Given the description of an element on the screen output the (x, y) to click on. 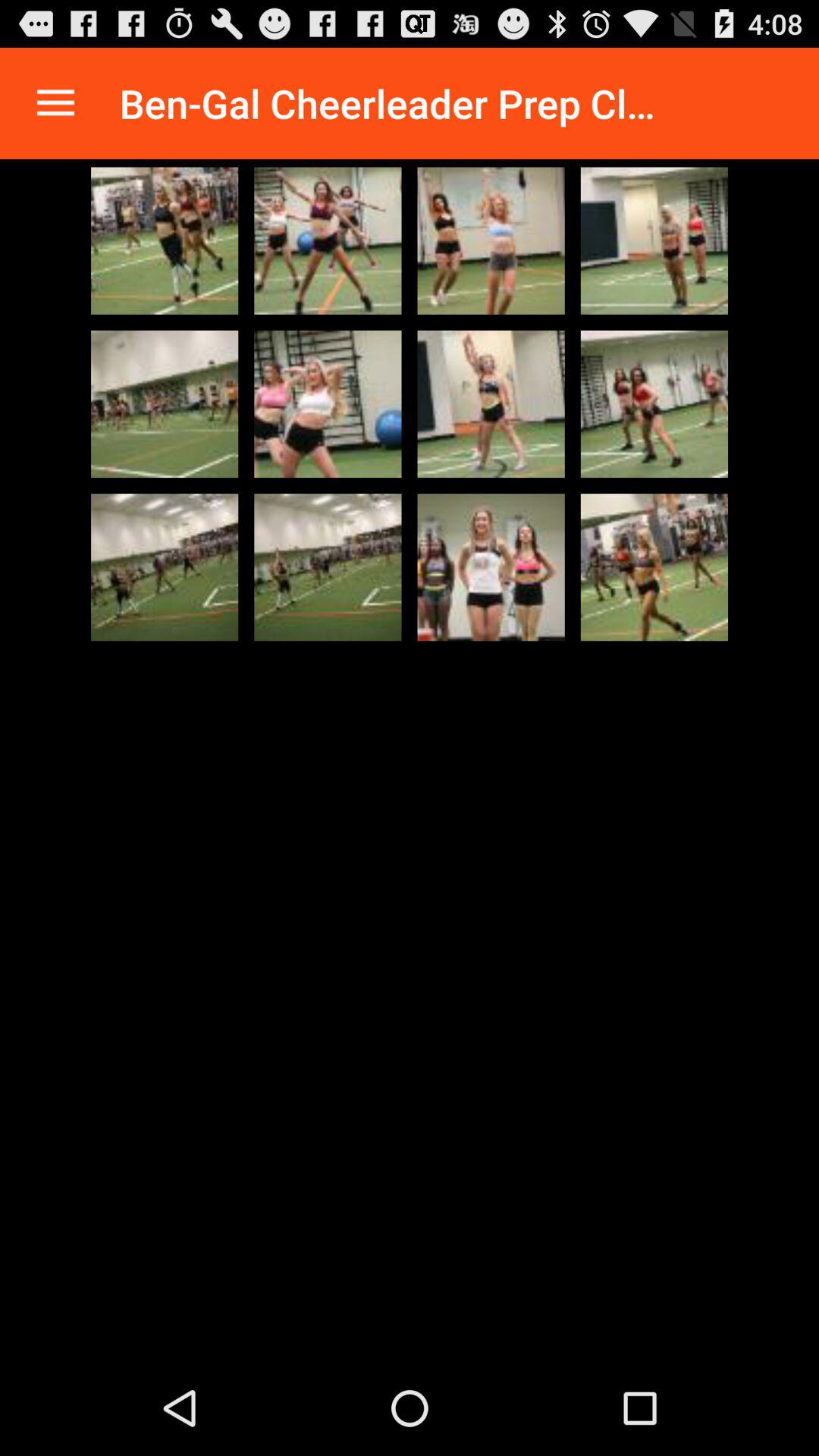
select photo (327, 566)
